Given the description of an element on the screen output the (x, y) to click on. 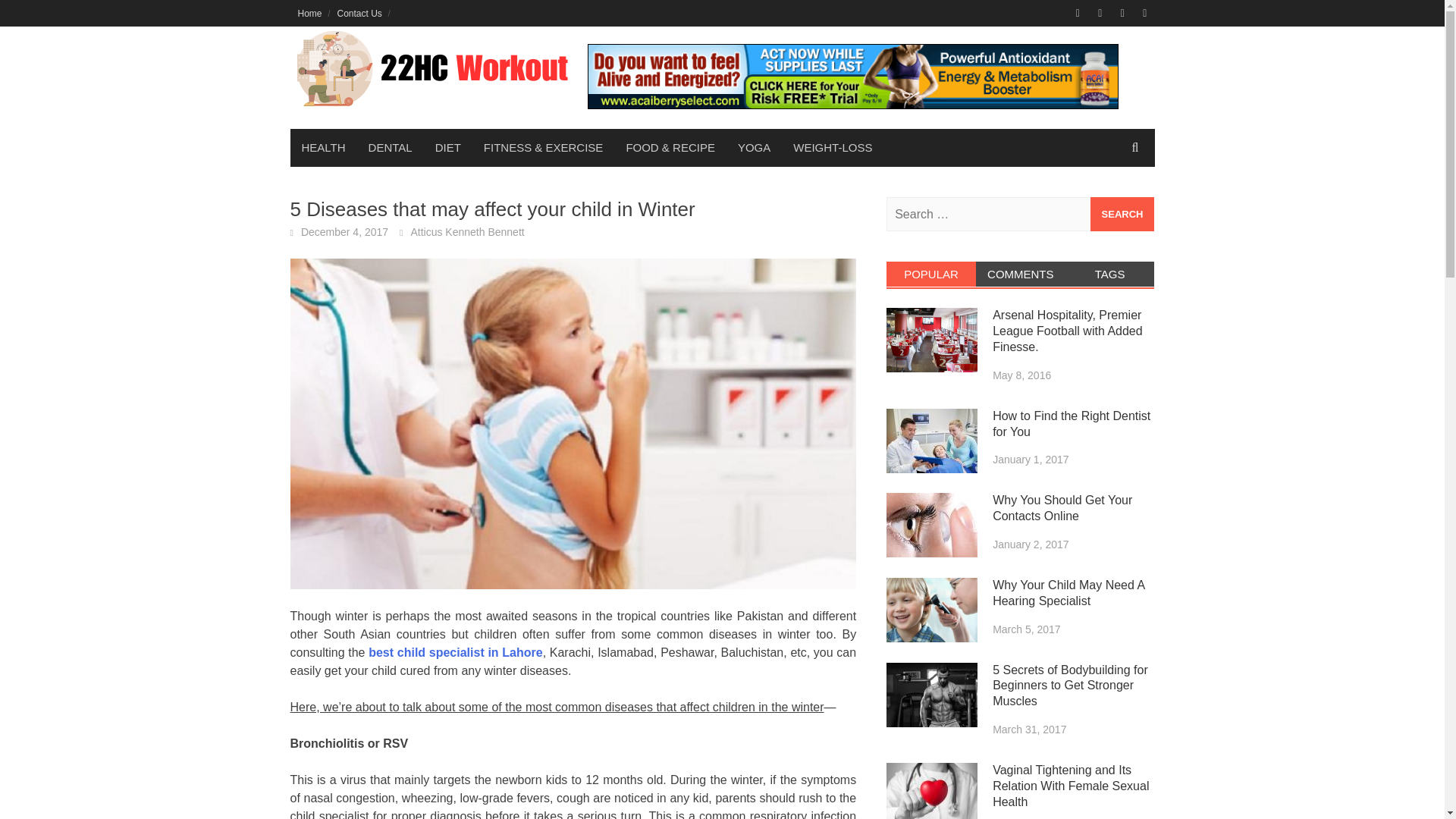
Home (309, 13)
best child specialist in Lahore (454, 652)
Why You Should Get Your Contacts Online (931, 525)
YOGA (753, 147)
WEIGHT-LOSS (832, 147)
Search (1122, 213)
Why Your Child May Need A Hearing Specialist (931, 610)
Atticus Kenneth Bennett (467, 232)
